Given the description of an element on the screen output the (x, y) to click on. 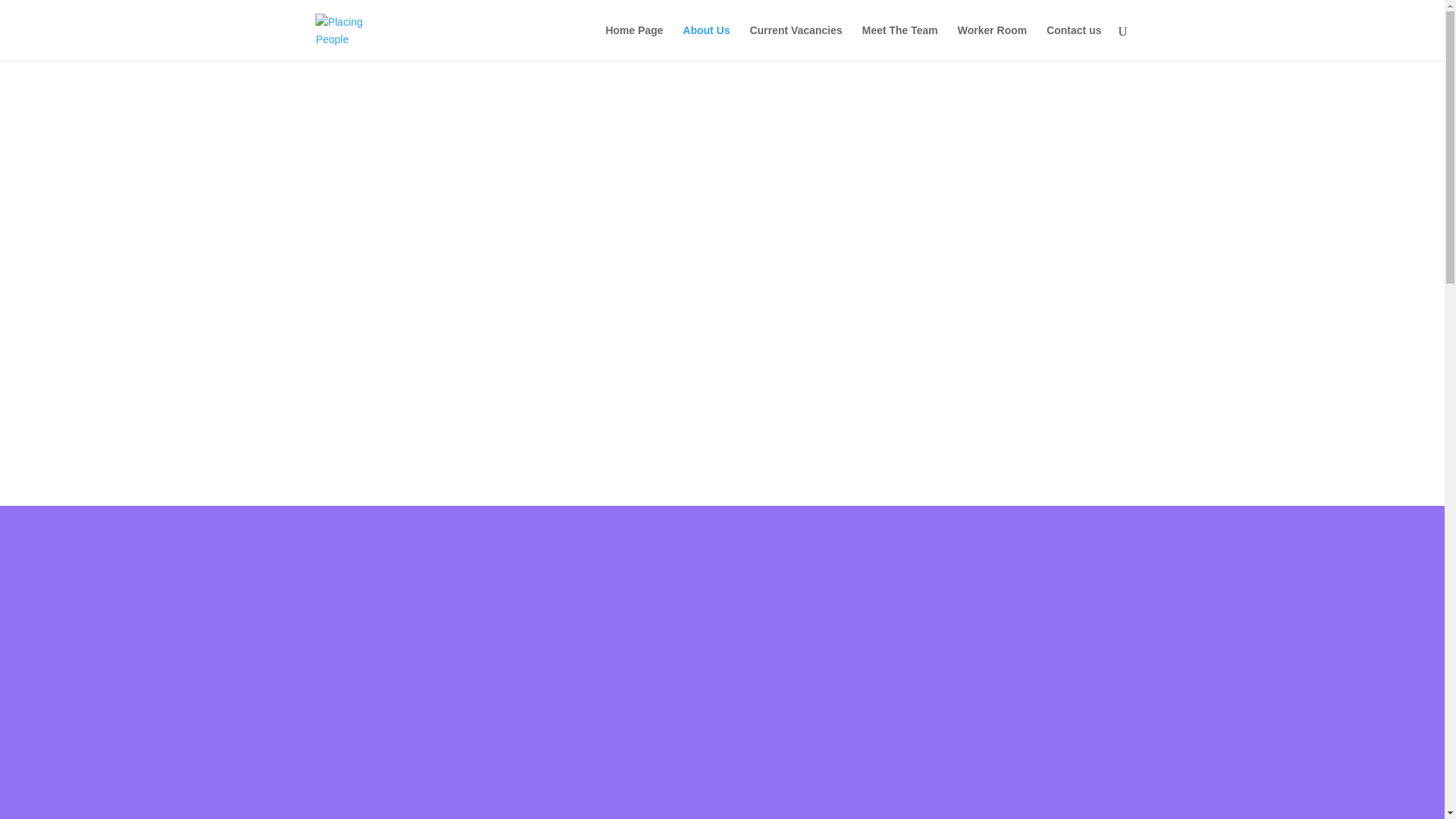
Meet The Team (899, 42)
Contact us (1073, 42)
Home Page (633, 42)
About Us (706, 42)
Worker Room (992, 42)
Current Vacancies (796, 42)
